Given the description of an element on the screen output the (x, y) to click on. 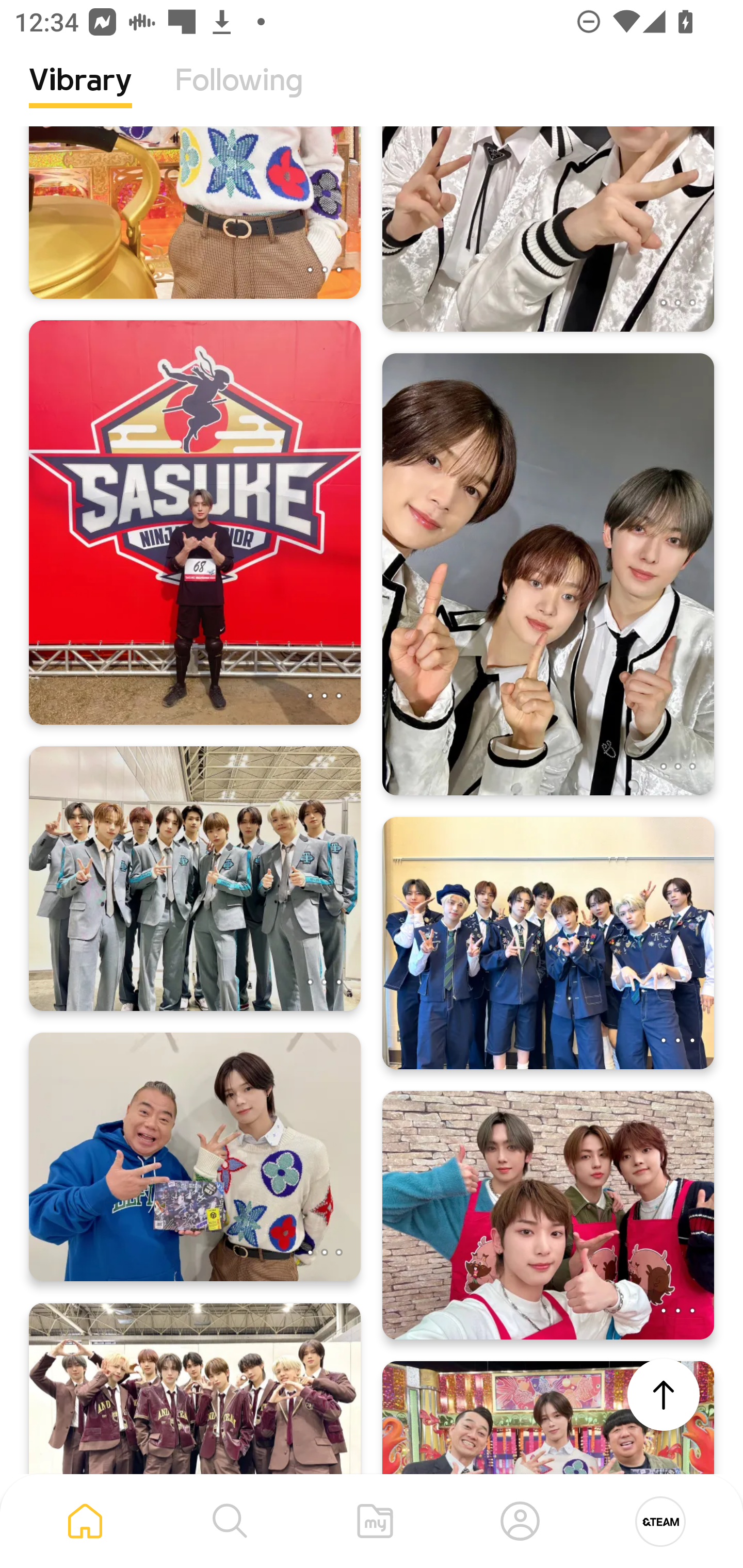
Vibrary (80, 95)
Following (239, 95)
